Given the description of an element on the screen output the (x, y) to click on. 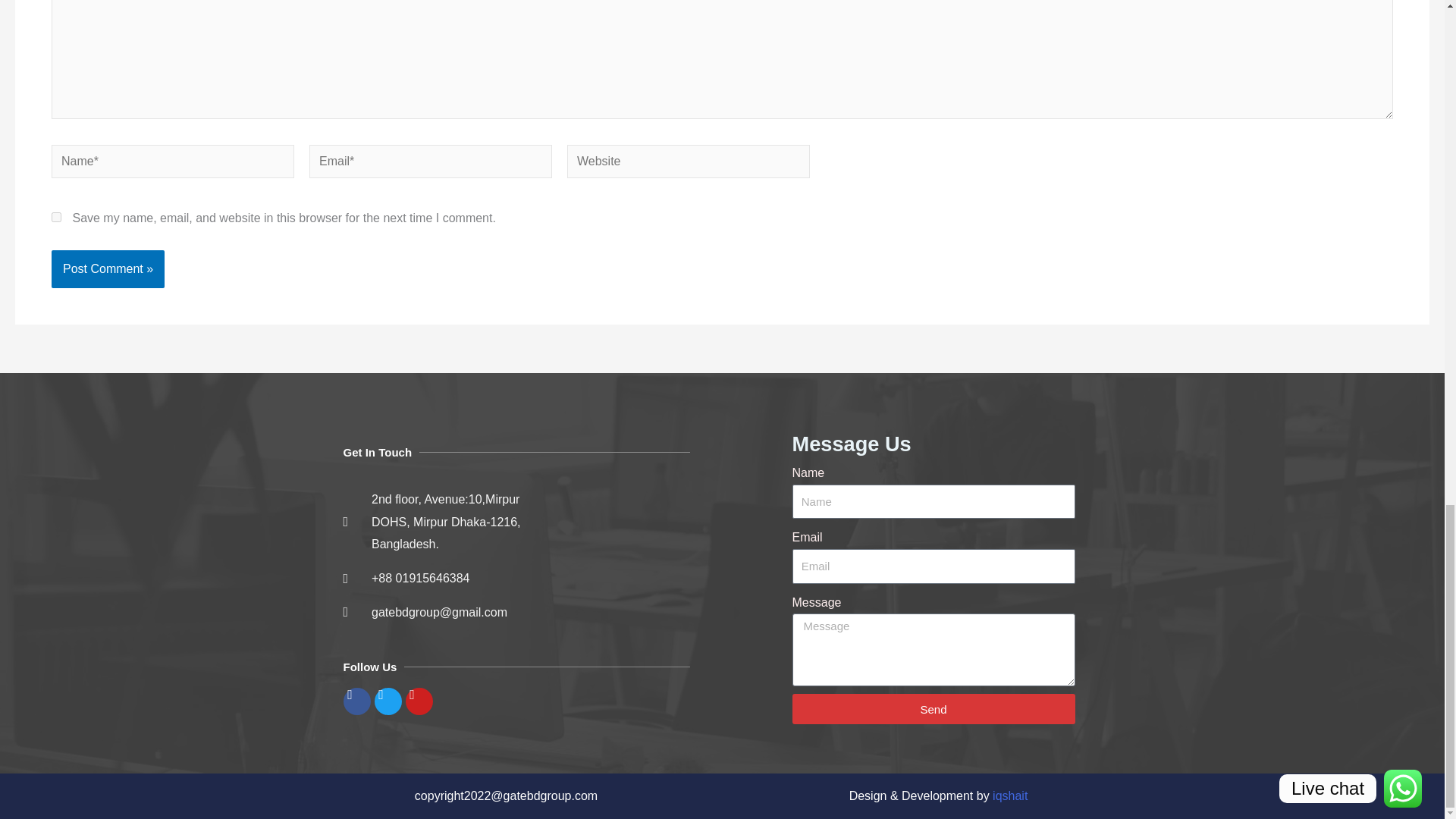
yes (55, 216)
Send (933, 708)
iqshait (1009, 795)
